Given the description of an element on the screen output the (x, y) to click on. 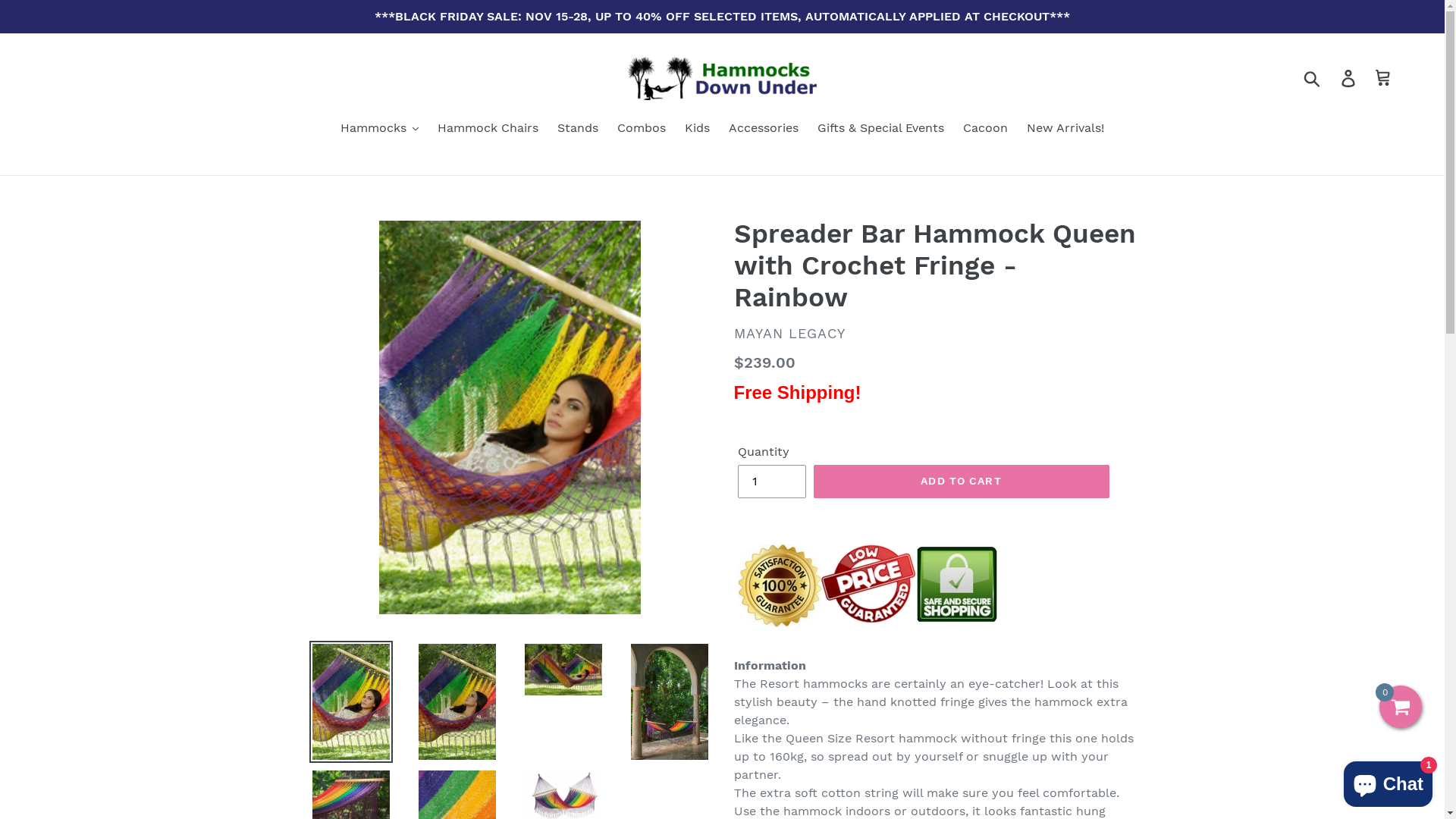
Cart Element type: text (1384, 78)
Kids Element type: text (697, 129)
Hammock Chairs Element type: text (487, 129)
New Arrivals! Element type: text (1065, 129)
Gifts & Special Events Element type: text (880, 129)
Stands Element type: text (577, 129)
0 Element type: text (1400, 706)
Shopify online store chat Element type: hover (1388, 780)
ADD TO CART Element type: text (960, 481)
Submit Element type: text (1312, 77)
Combos Element type: text (641, 129)
Cacoon Element type: text (985, 129)
Accessories Element type: text (763, 129)
Log in Element type: text (1349, 78)
